Given the description of an element on the screen output the (x, y) to click on. 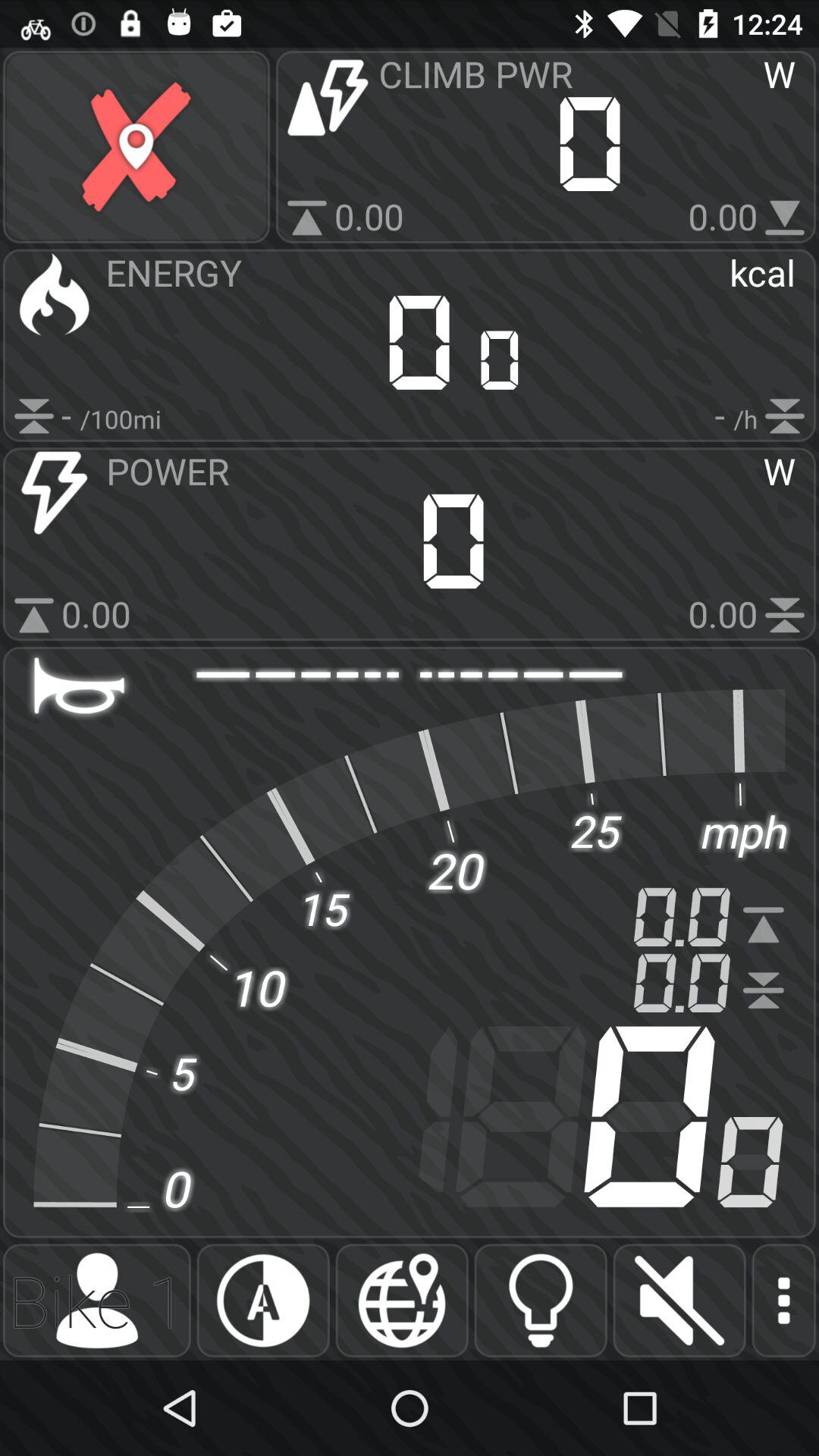
text contrast (262, 1300)
